Given the description of an element on the screen output the (x, y) to click on. 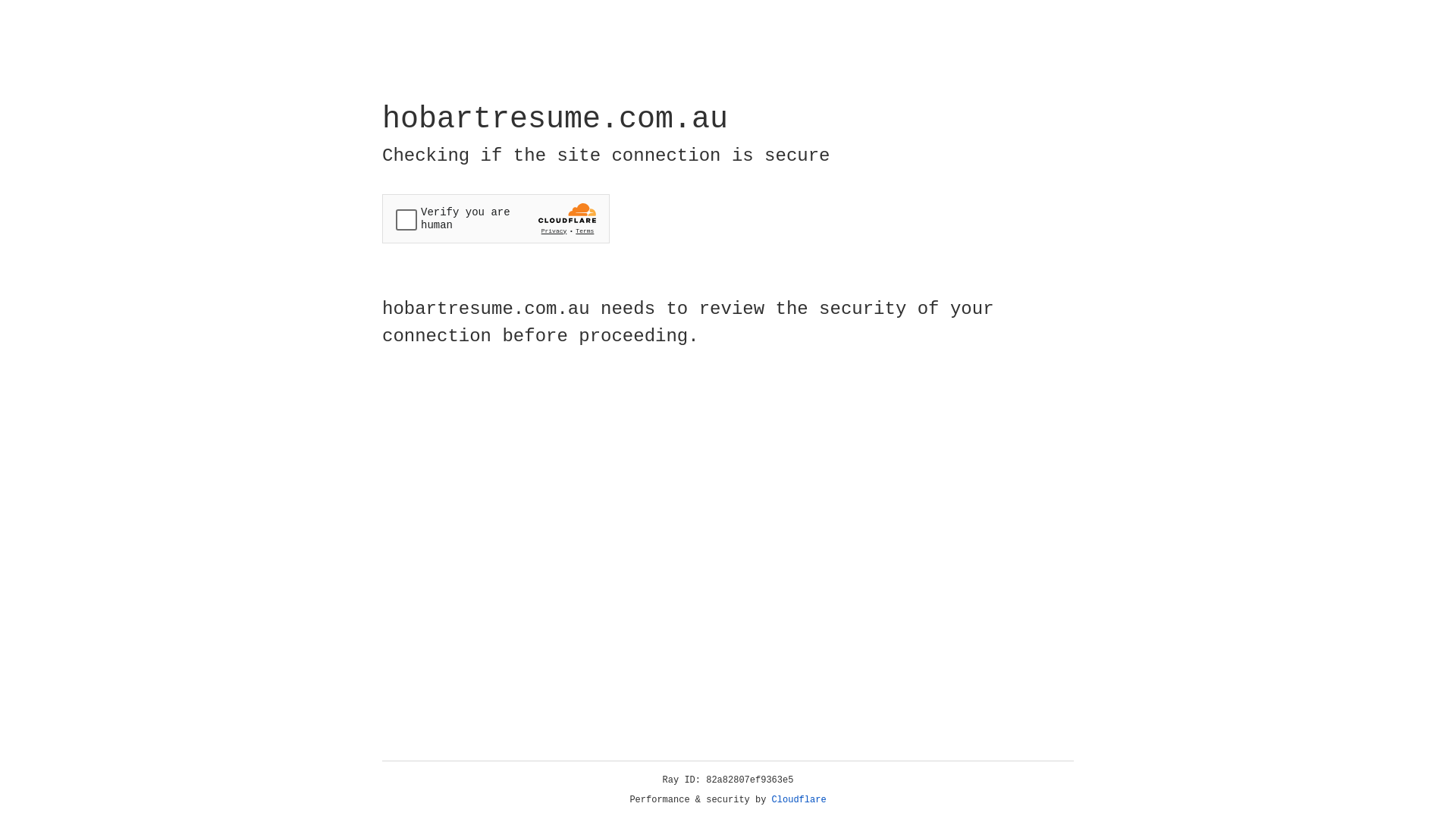
Cloudflare Element type: text (798, 799)
Widget containing a Cloudflare security challenge Element type: hover (495, 218)
